Given the description of an element on the screen output the (x, y) to click on. 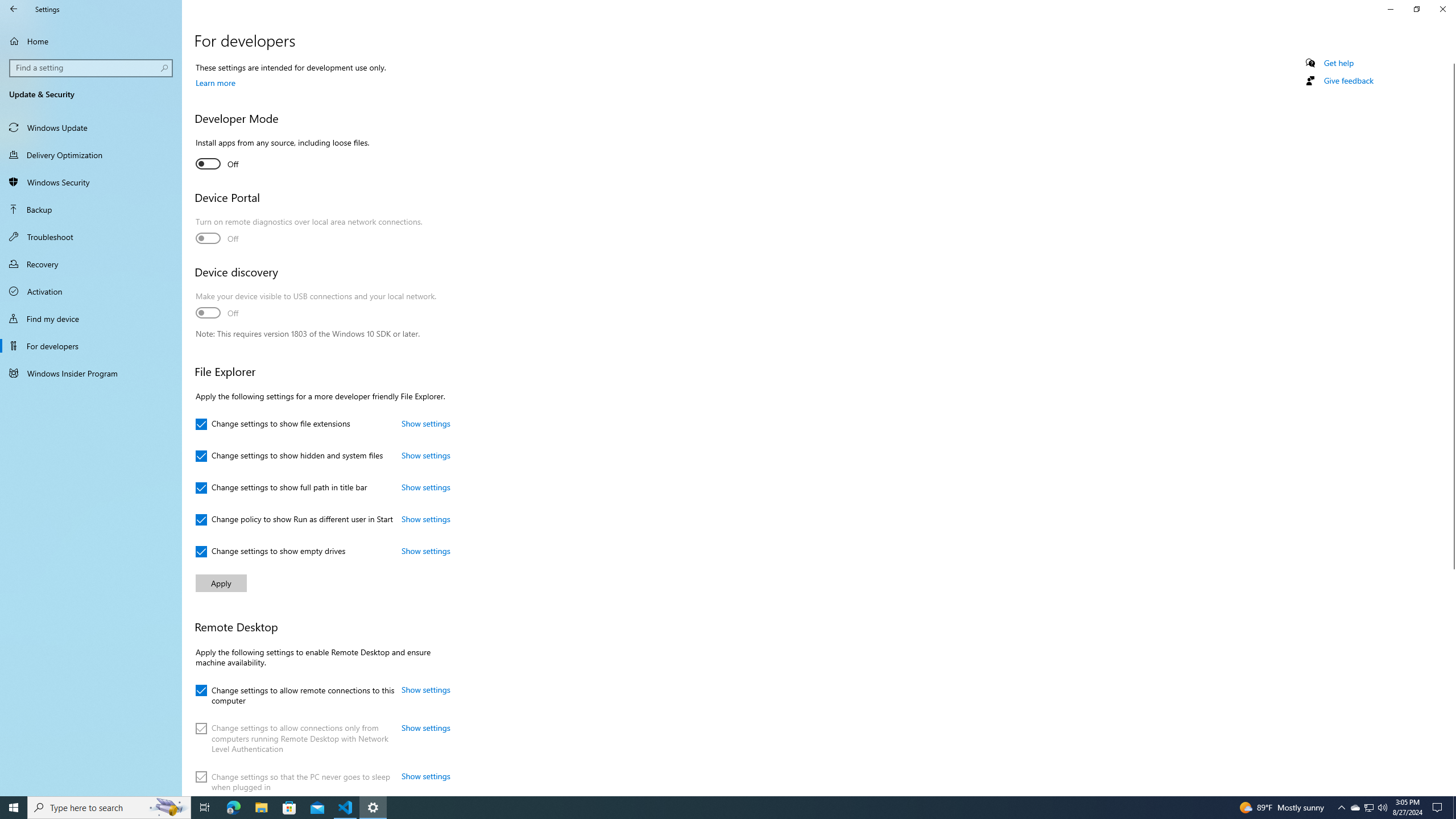
Windows Security (91, 181)
Activation (91, 290)
Show settings: Change settings to show empty drives (425, 550)
Show settings: Change settings to show file extensions (425, 423)
Change settings to show full path in title bar (280, 488)
Change settings to show hidden and system files (288, 456)
Learn more (215, 82)
